Given the description of an element on the screen output the (x, y) to click on. 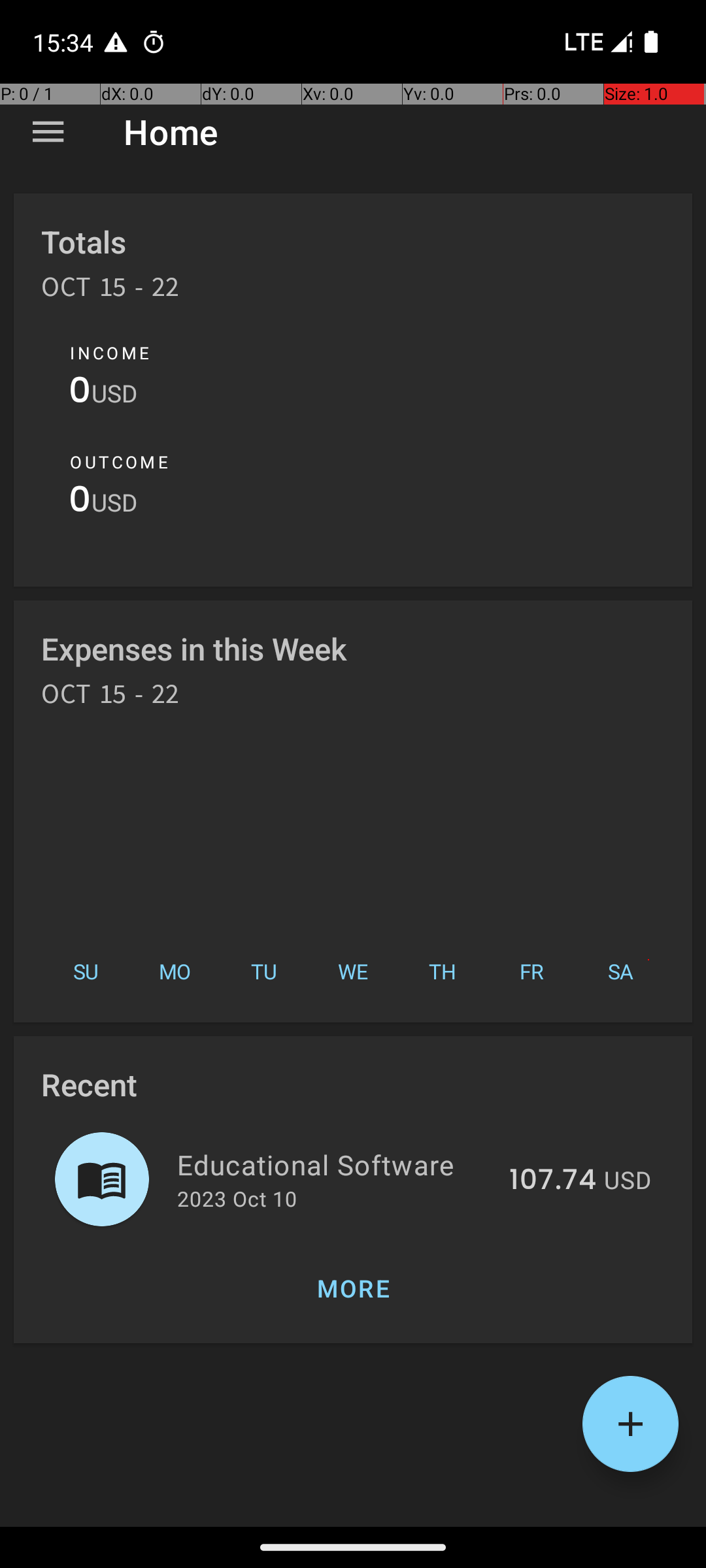
Educational Software Element type: android.widget.TextView (335, 1164)
107.74 Element type: android.widget.TextView (552, 1180)
